Given the description of an element on the screen output the (x, y) to click on. 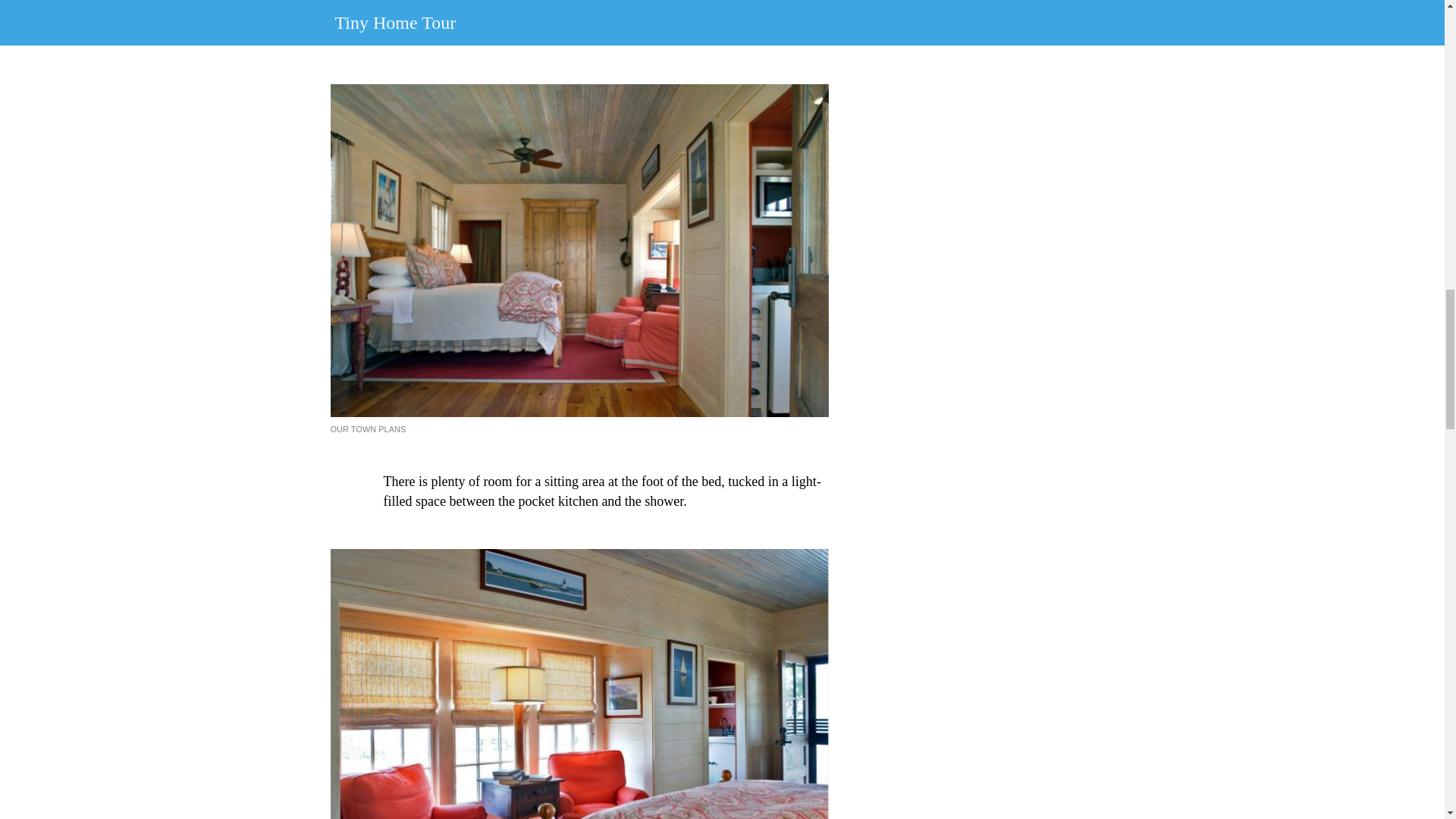
OUR TOWN PLANS (368, 429)
